Given the description of an element on the screen output the (x, y) to click on. 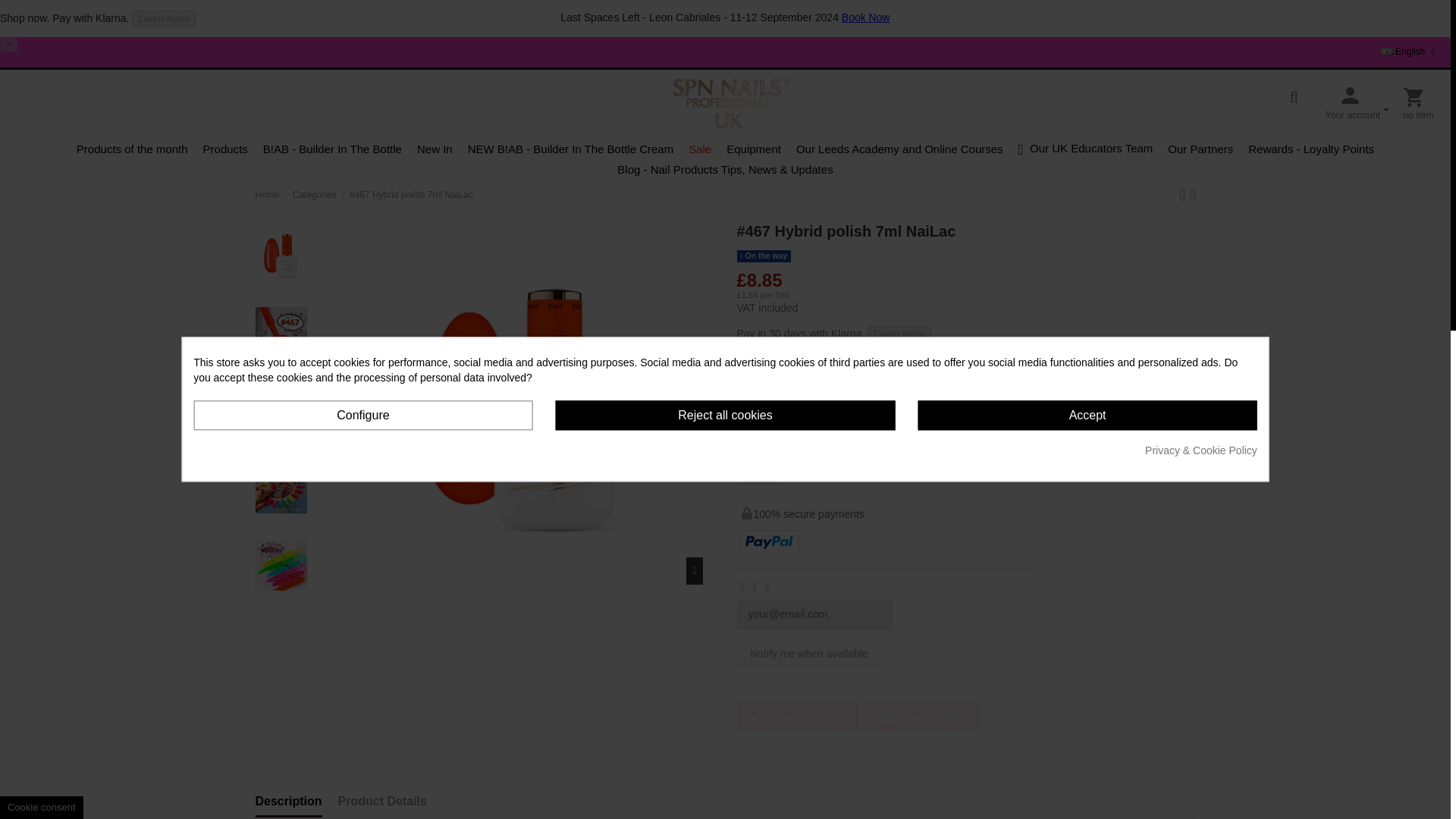
English (1409, 50)
Your account (1356, 103)
Notify me when available (809, 653)
1 (758, 465)
Products of the month (131, 149)
Products (225, 149)
